Given the description of an element on the screen output the (x, y) to click on. 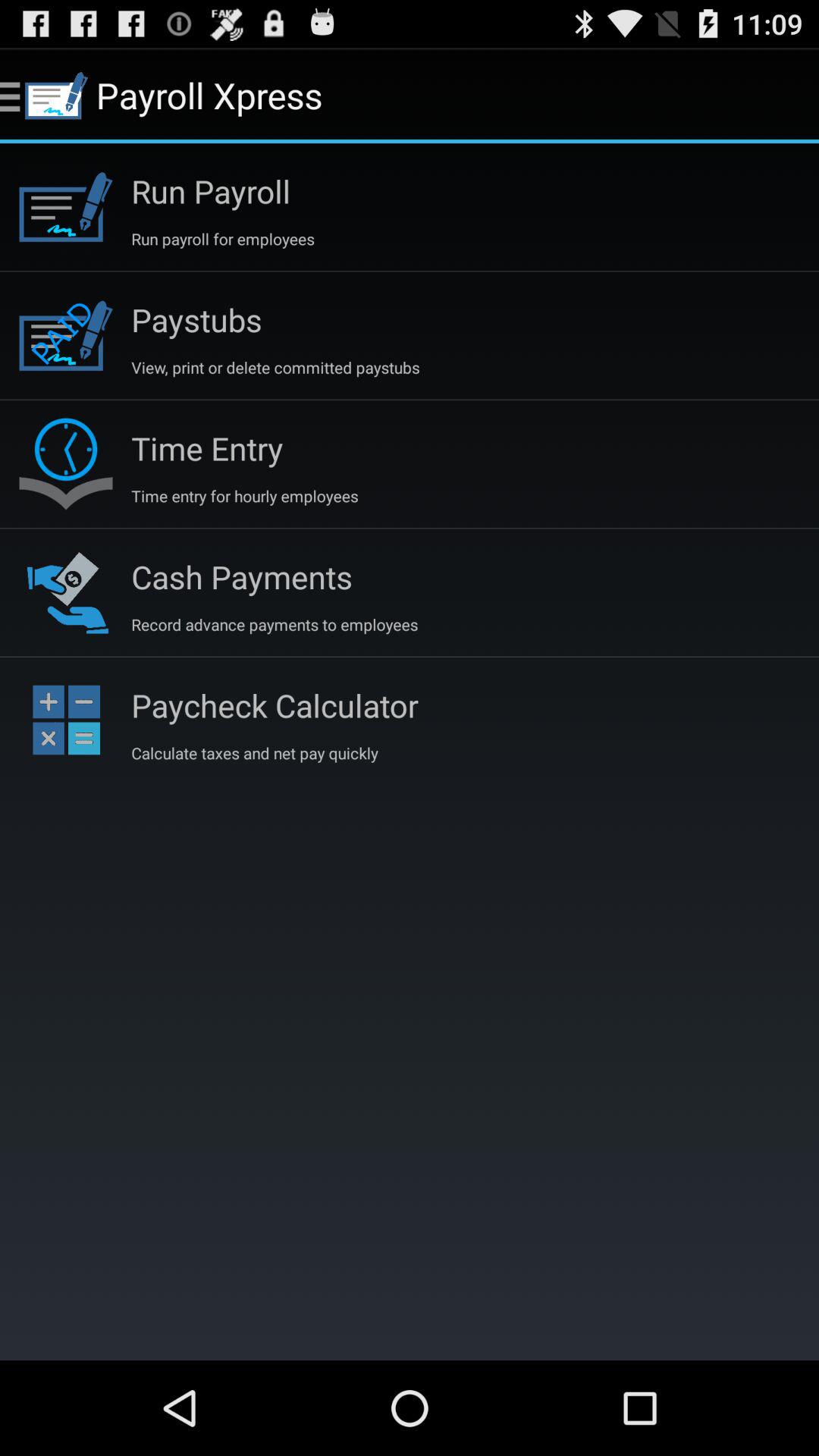
click app above paycheck calculator icon (274, 624)
